Given the description of an element on the screen output the (x, y) to click on. 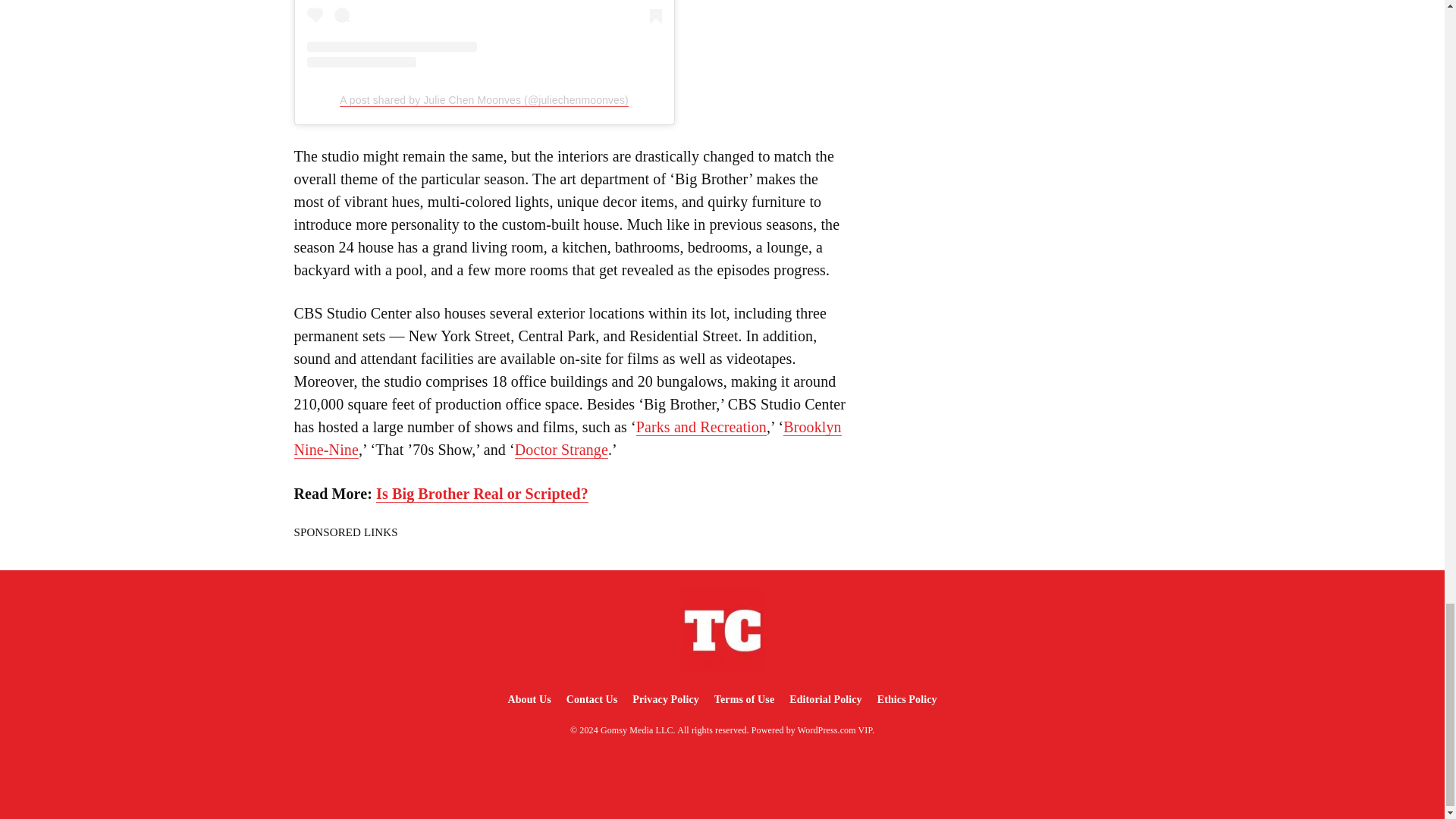
Brooklyn Nine-Nine (567, 438)
Editorial Policy (825, 699)
Parks and Recreation (701, 426)
Ethics Policy (906, 699)
About Us (528, 699)
Privacy Policy (665, 699)
Doctor Strange (561, 449)
Is Big Brother Real or Scripted? (481, 493)
View this post on Instagram (483, 33)
Contact Us (592, 699)
WordPress.com VIP (834, 729)
Terms of Use (743, 699)
